Given the description of an element on the screen output the (x, y) to click on. 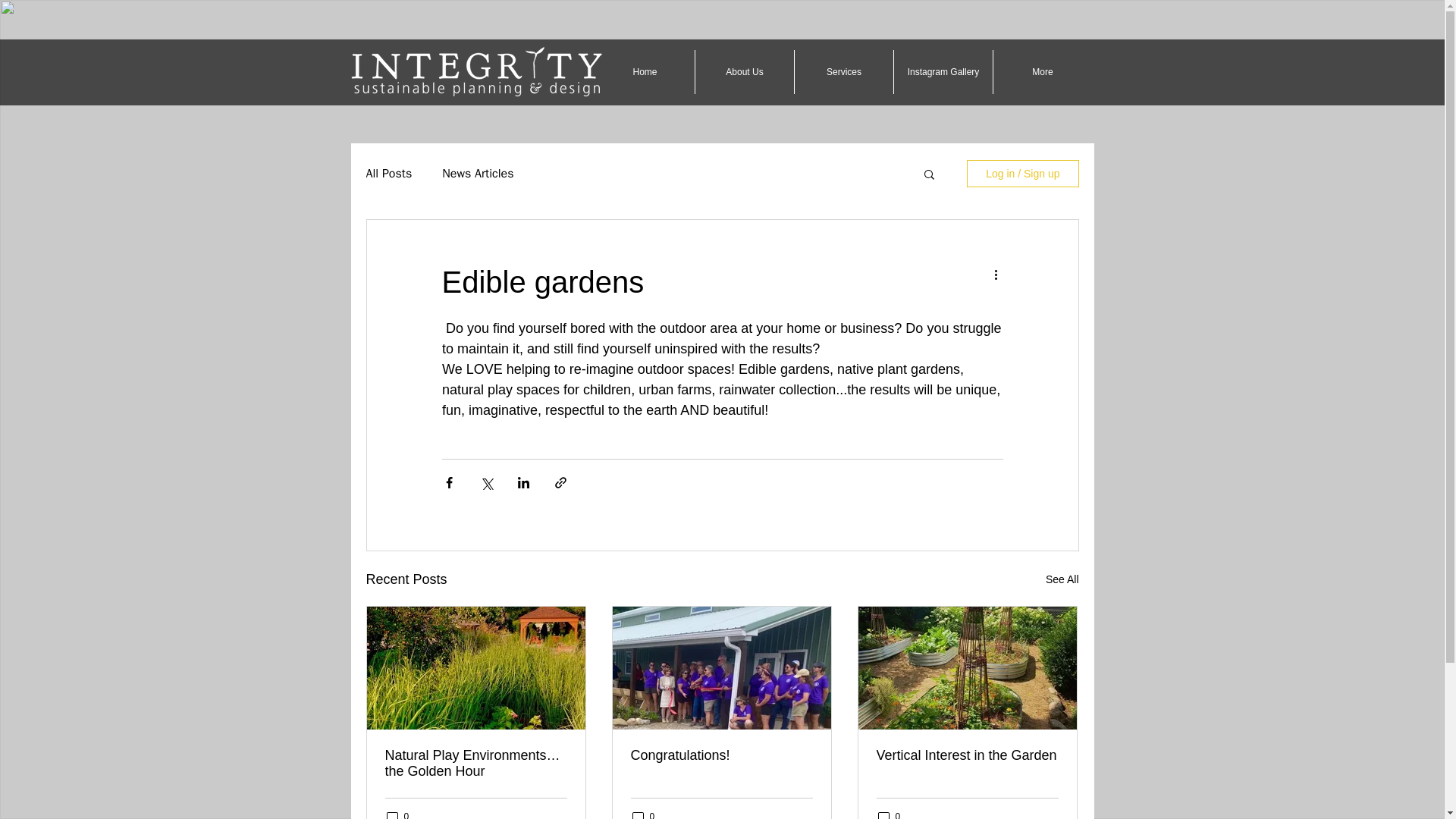
0 (643, 814)
Congratulations! (721, 755)
See All (1061, 579)
Vertical Interest in the Garden (967, 755)
Services (843, 71)
About Us (744, 71)
Home (644, 71)
0 (397, 814)
News Articles (477, 172)
All Posts (388, 172)
Instagram Gallery (942, 71)
0 (889, 814)
